Given the description of an element on the screen output the (x, y) to click on. 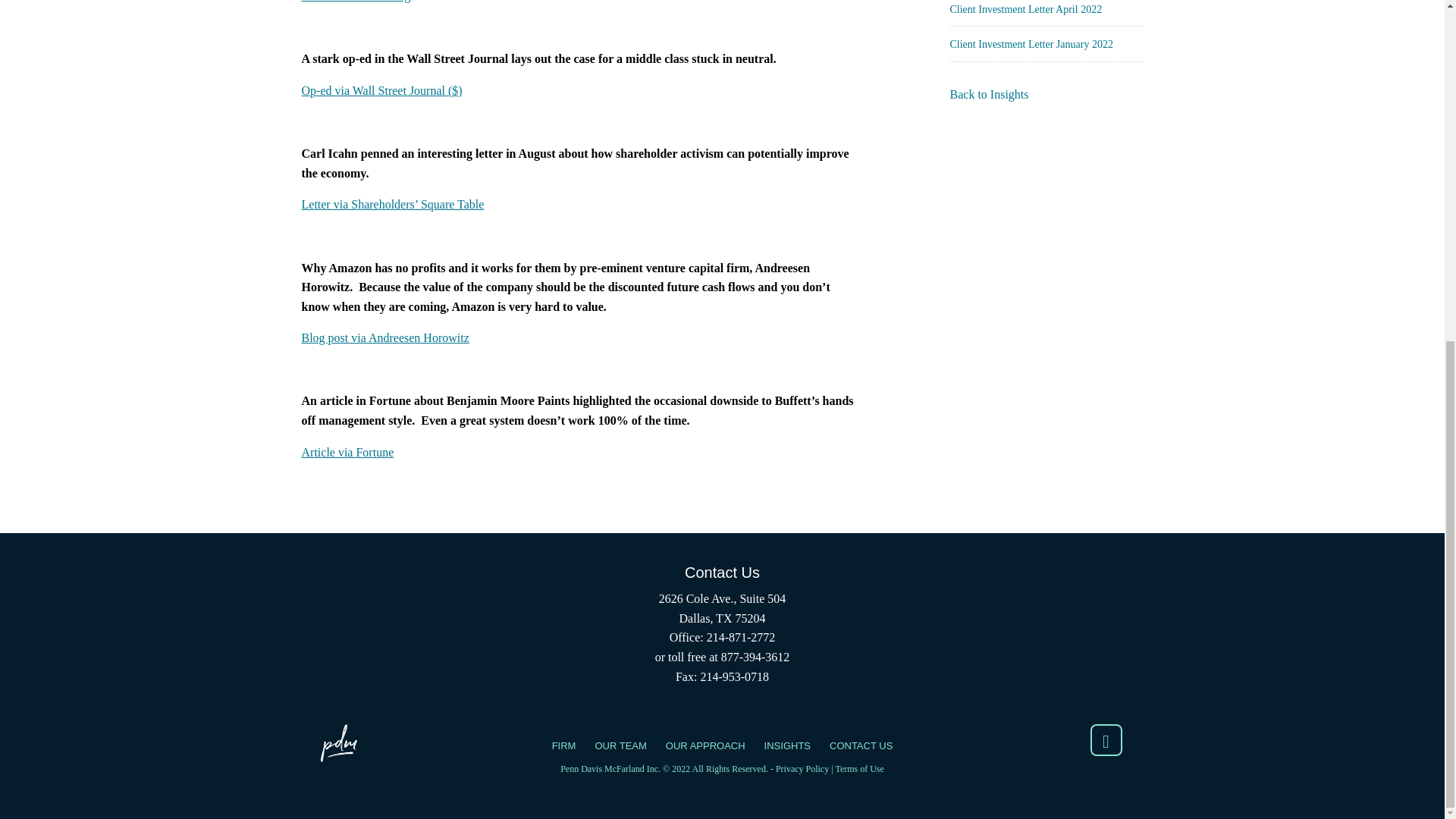
pdm-sm-copyrightlogo (338, 742)
OUR APPROACH (705, 745)
INSIGHTS (787, 745)
Client Investment Letter January 2022 (1030, 43)
Terms of Use (858, 768)
Article via Bloomberg (355, 1)
FIRM (564, 745)
CONTACT US (861, 745)
Back to Insights (988, 93)
Privacy Polic (800, 768)
Article via Fortune (347, 451)
OUR TEAM (620, 745)
Client Investment Letter April 2022 (1025, 9)
Blog post via Andreesen Horowitz (384, 337)
